Given the description of an element on the screen output the (x, y) to click on. 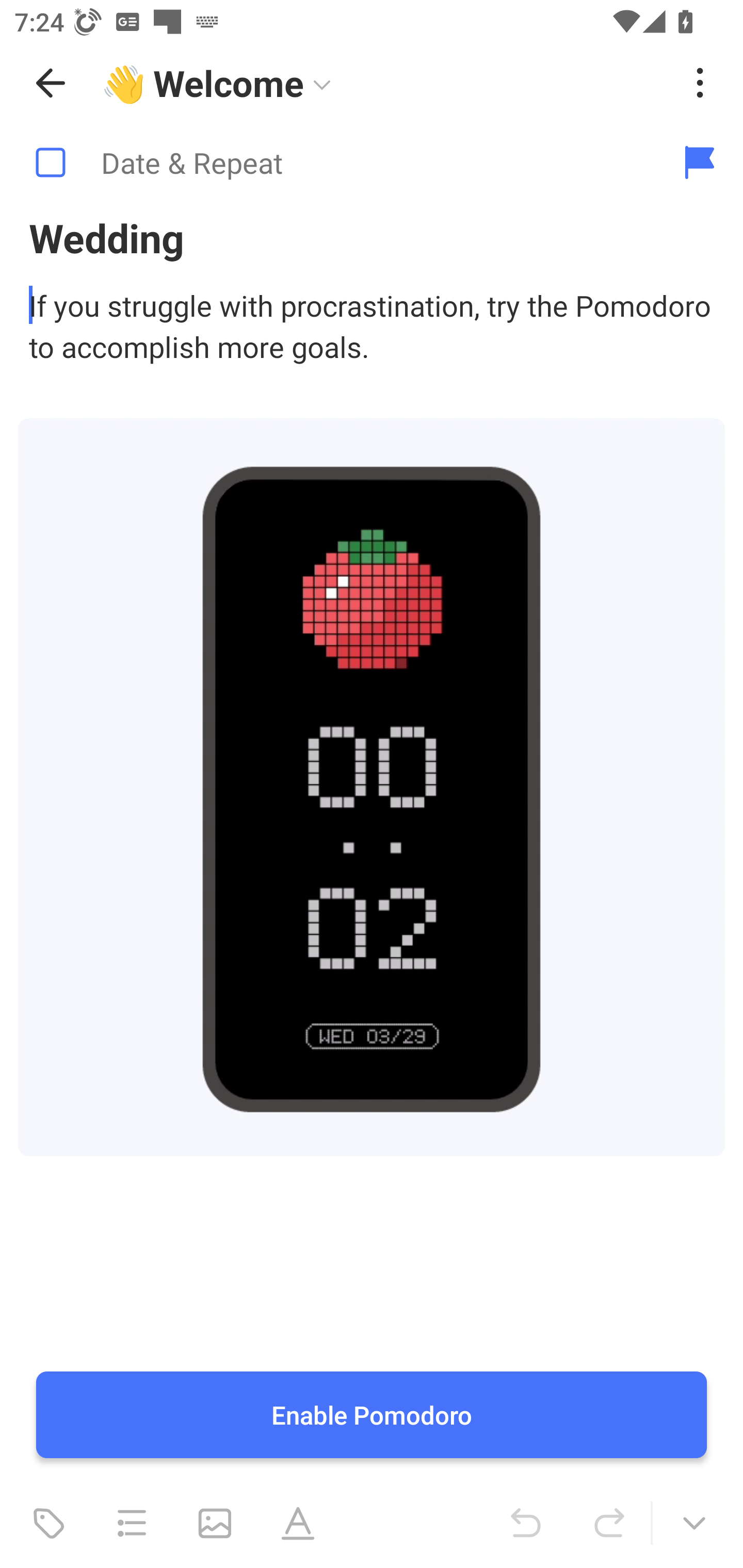
👋 Welcome (384, 82)
Date & Repeat (328, 163)
Wedding (371, 237)
Enable Pomodoro (371, 1415)
